Given the description of an element on the screen output the (x, y) to click on. 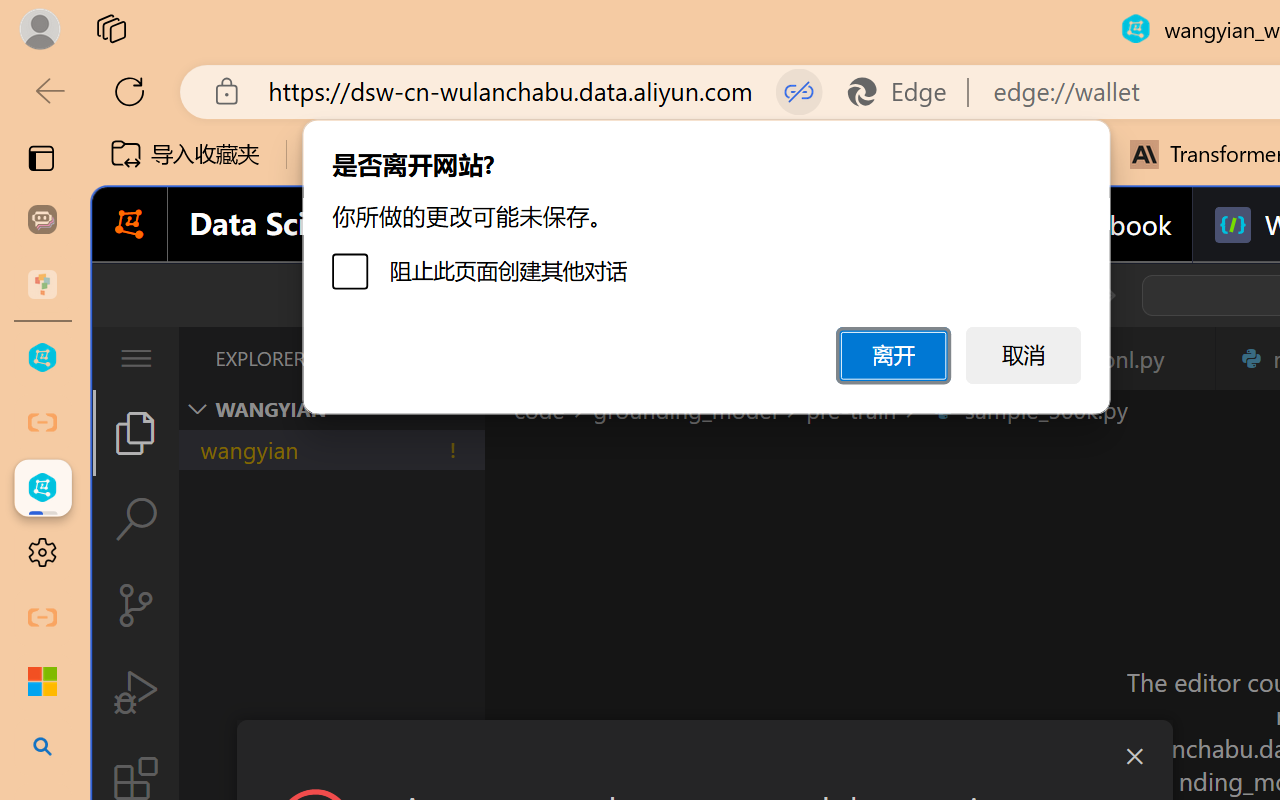
Source Control (Ctrl+Shift+G) (135, 604)
Run and Debug (Ctrl+Shift+D) (135, 692)
Search (Ctrl+Shift+F) (135, 519)
Explorer (Ctrl+Shift+E) (135, 432)
Microsoft security help and learning (42, 681)
Application Menu (135, 358)
